Given the description of an element on the screen output the (x, y) to click on. 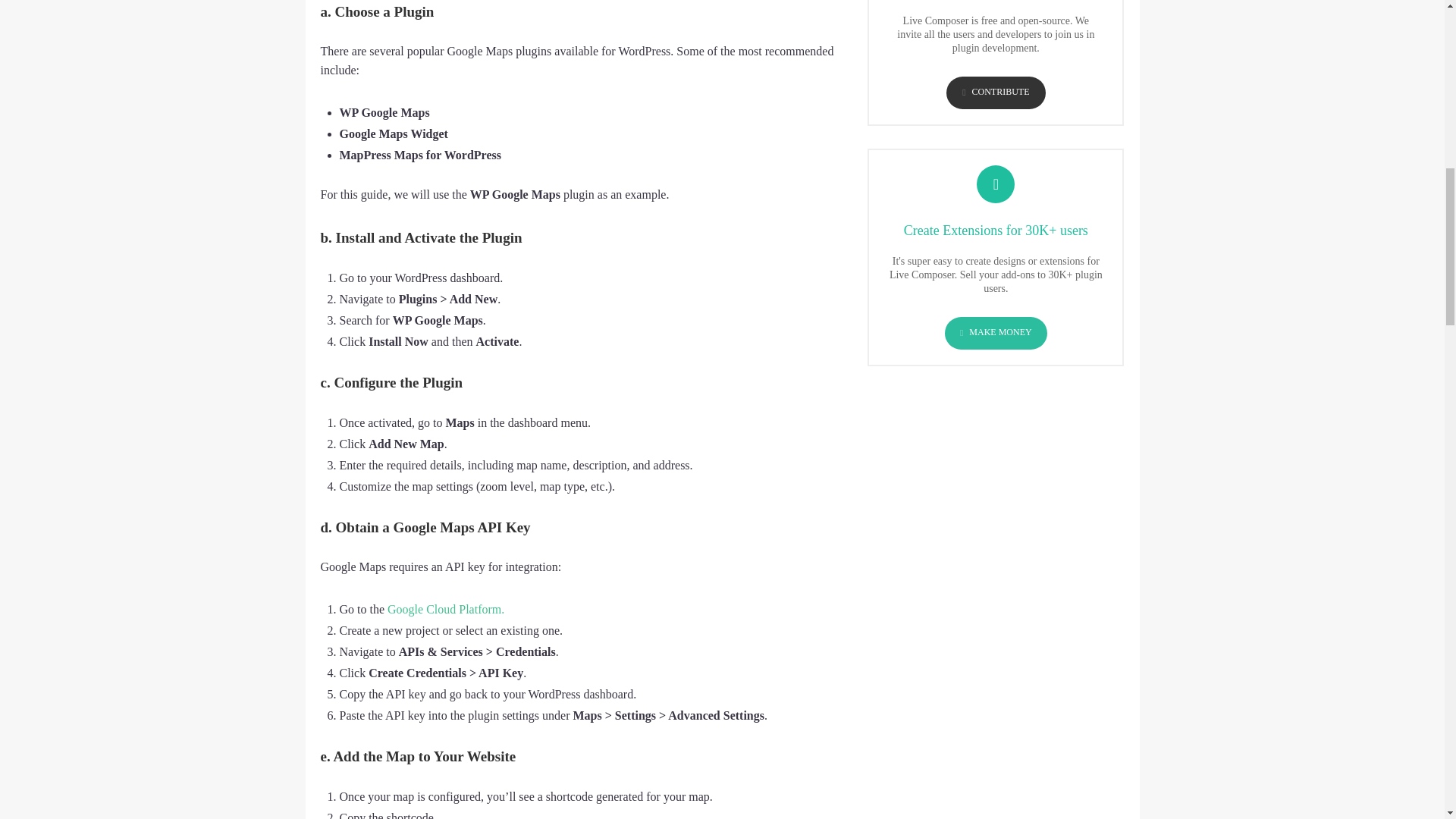
MAKE MONEY (995, 332)
Google Cloud Platform. (445, 608)
CONTRIBUTE (995, 92)
